Given the description of an element on the screen output the (x, y) to click on. 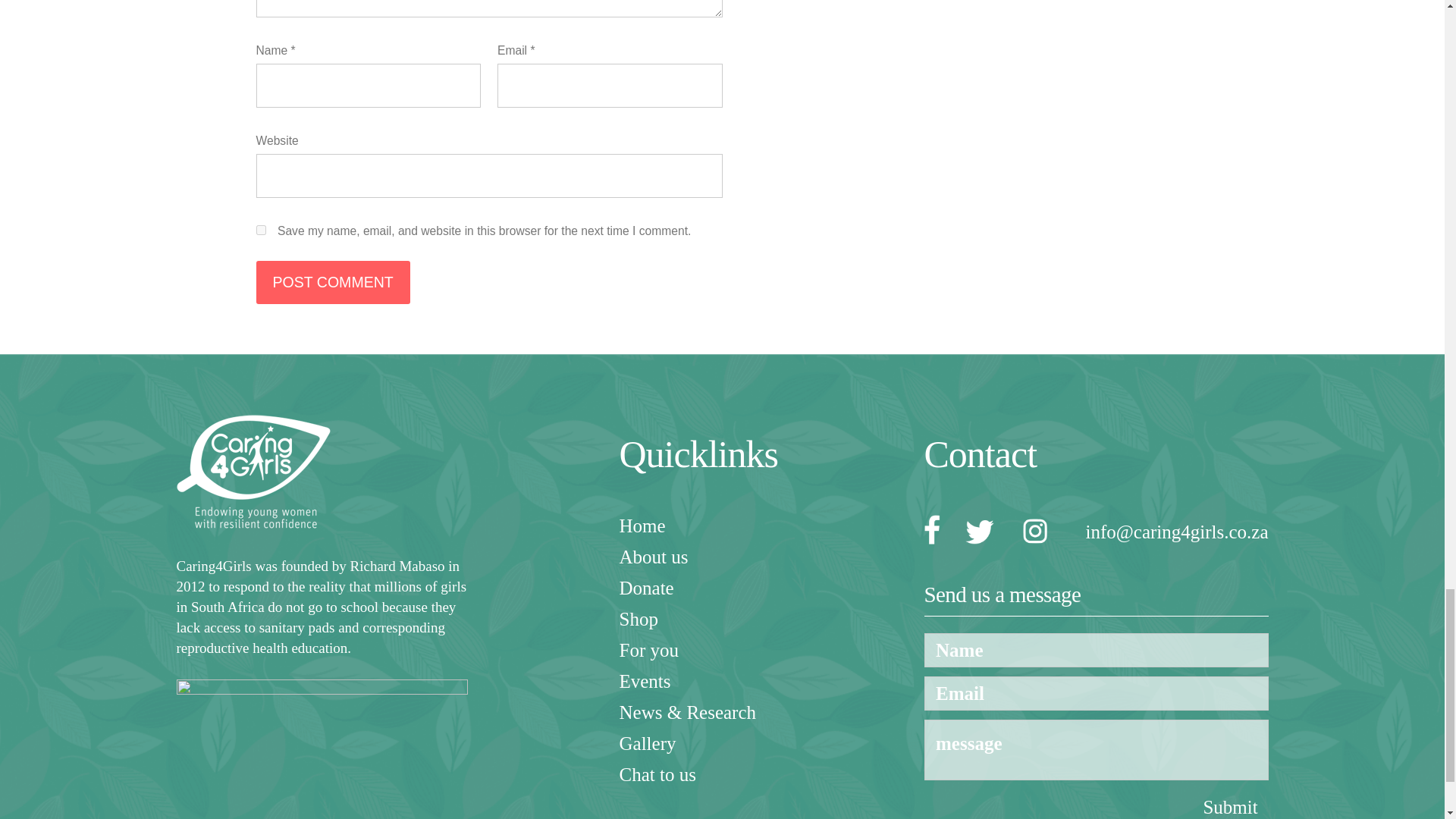
yes (261, 230)
Submit (1230, 805)
Post Comment (333, 282)
